Given the description of an element on the screen output the (x, y) to click on. 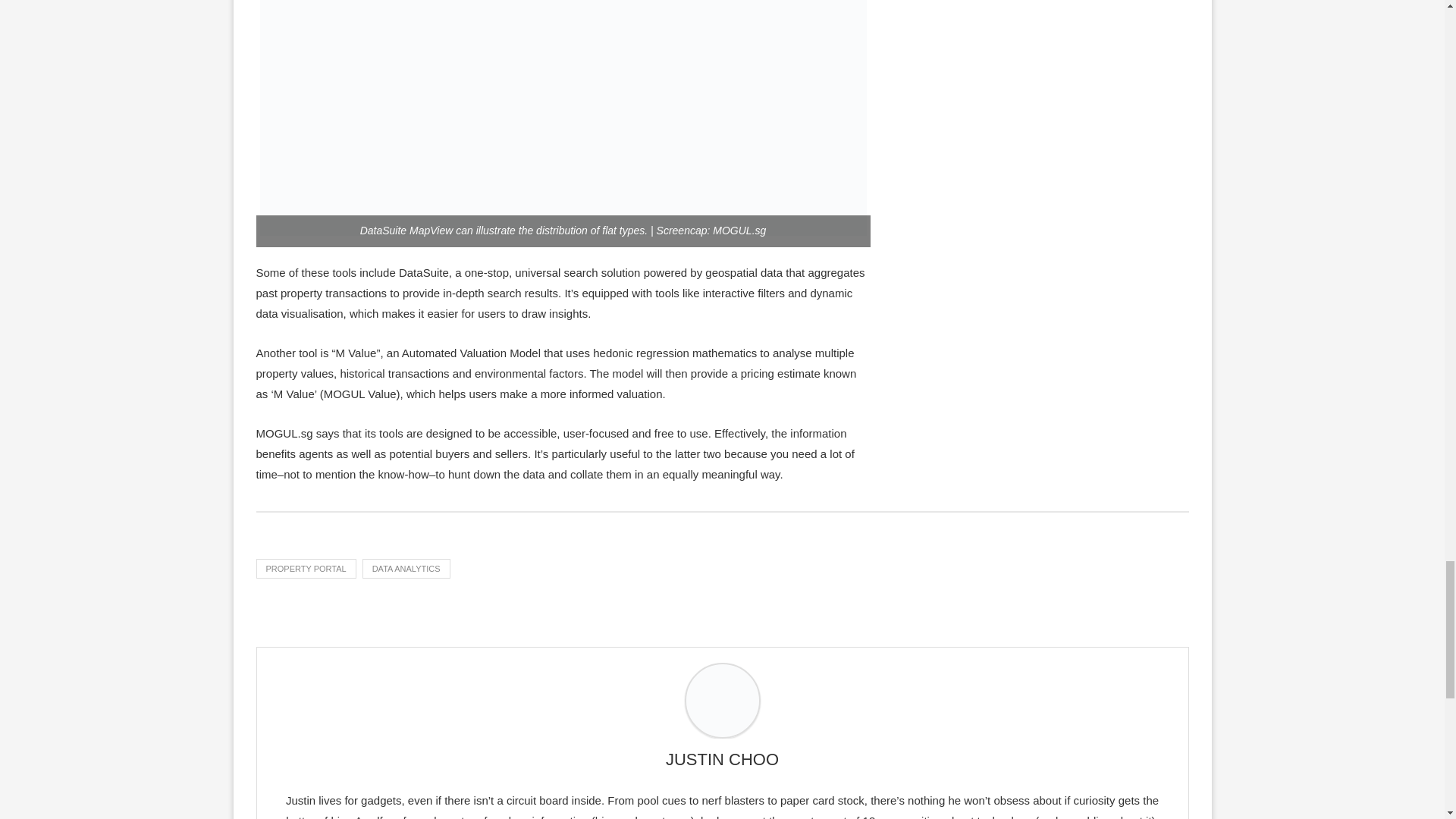
DATA ANALYTICS (405, 568)
JUSTIN CHOO (721, 759)
PROPERTY PORTAL (306, 568)
Author Justin Choo (721, 759)
